Given the description of an element on the screen output the (x, y) to click on. 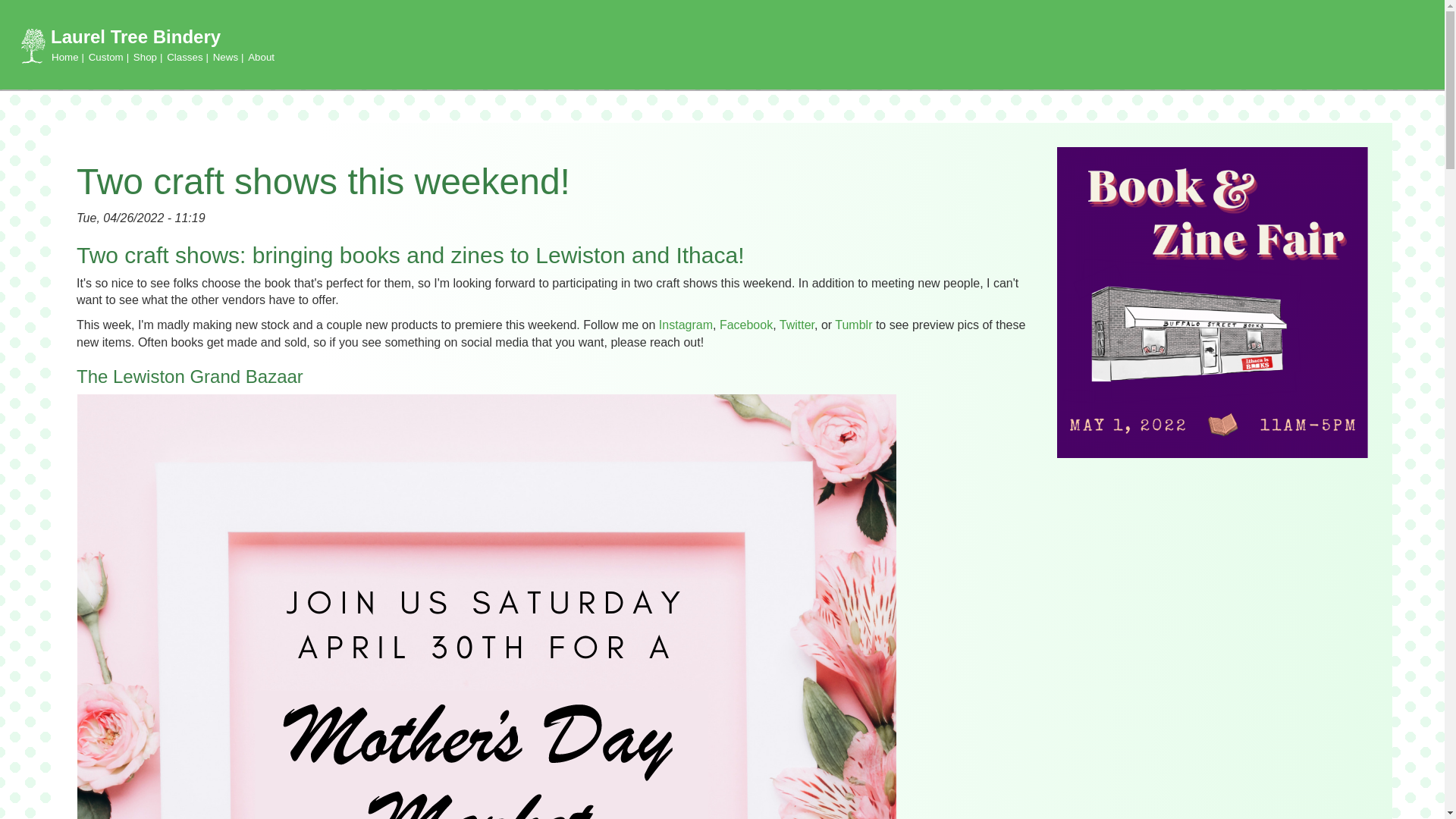
News (228, 56)
Home (67, 56)
Instagram (686, 324)
About (261, 56)
Shop (148, 56)
Facebook (746, 324)
Laurel Tree Bindery (135, 36)
Classes (187, 56)
Custom (108, 56)
Twitter (795, 324)
Home (135, 36)
Tumblr (853, 324)
